Given the description of an element on the screen output the (x, y) to click on. 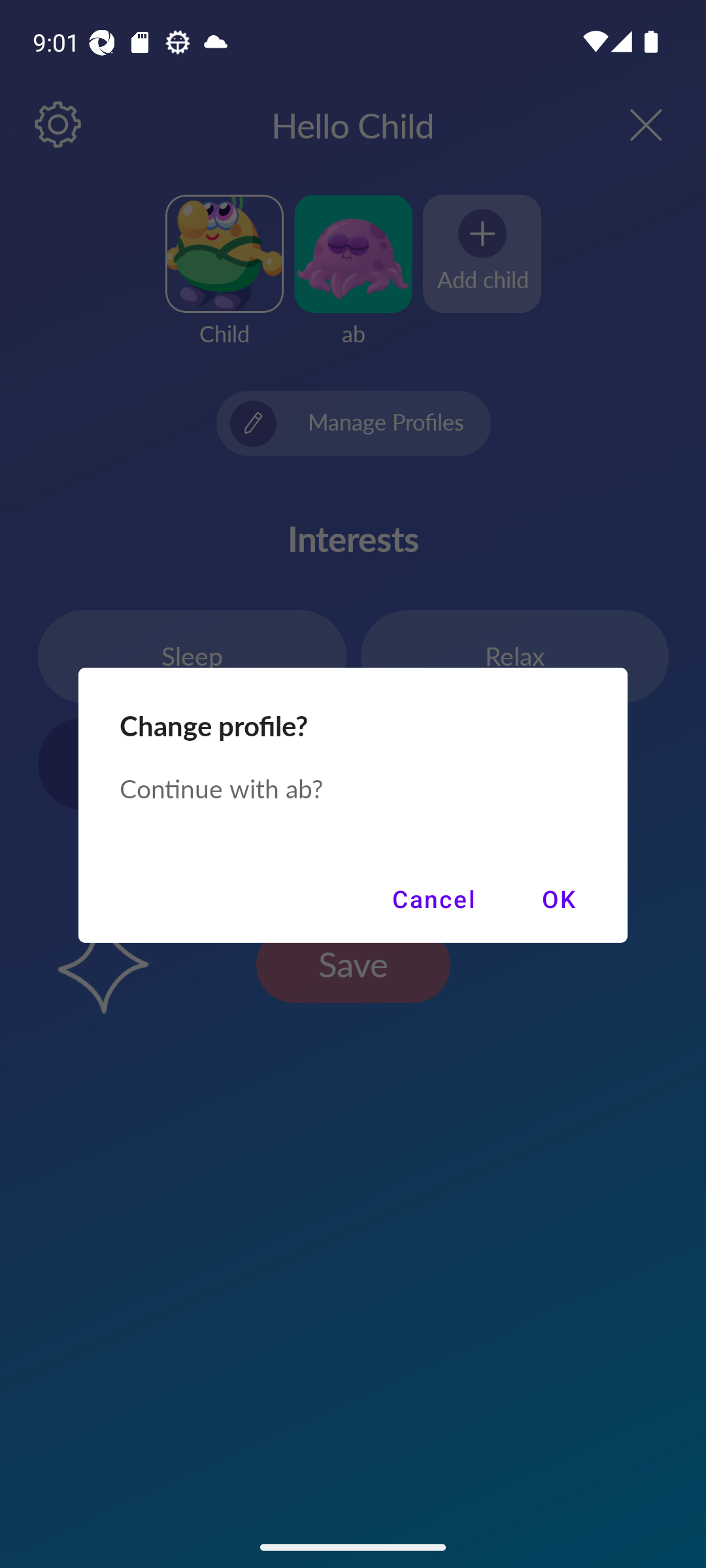
Cancel (433, 898)
OK (558, 898)
